Given the description of an element on the screen output the (x, y) to click on. 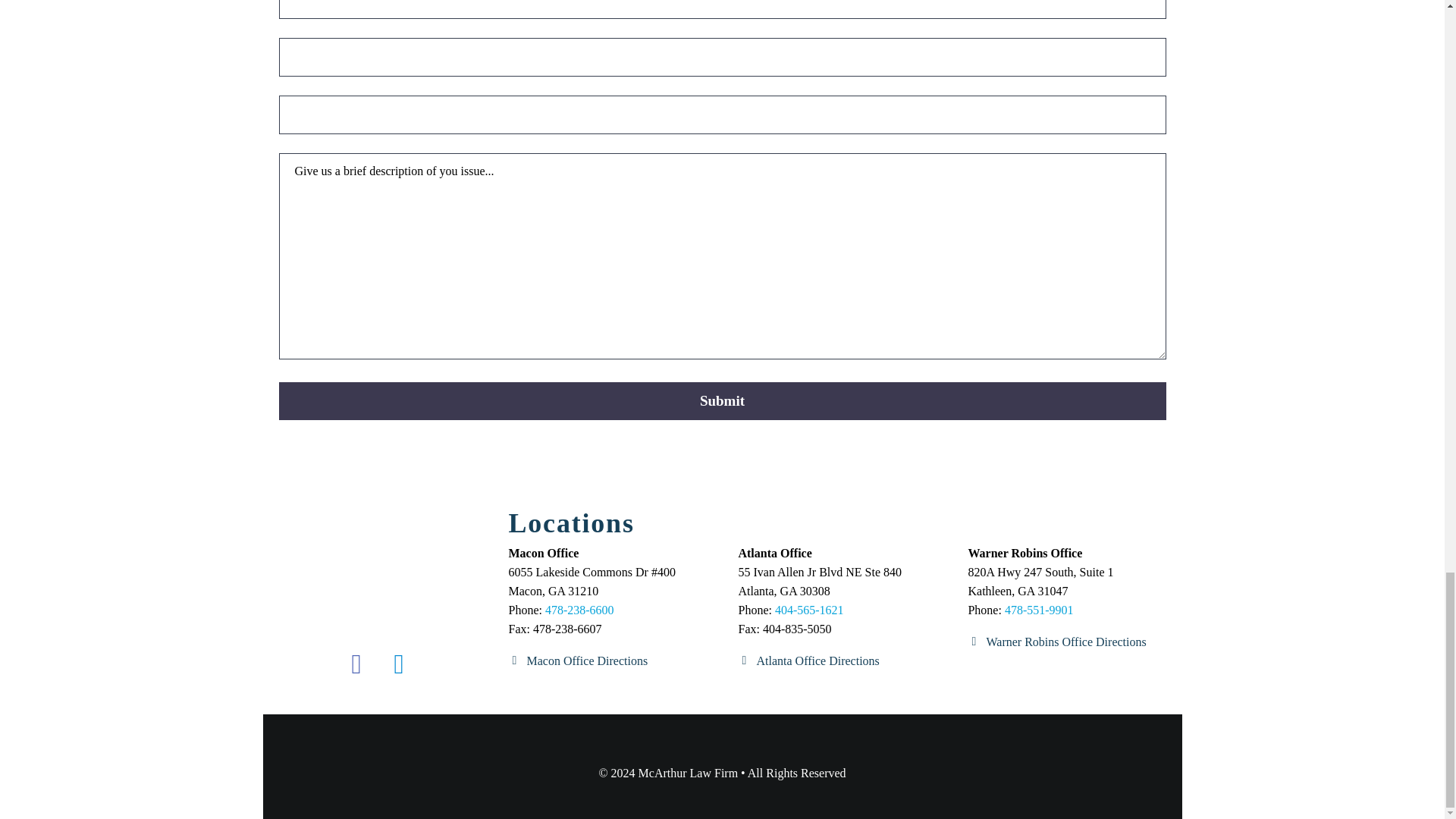
Atlanta Office Directions (808, 660)
Macon Office Directions (577, 660)
Submit (722, 401)
McArthur Law Firm Logo Small (377, 580)
Warner Robins Office Directions (1056, 641)
